Given the description of an element on the screen output the (x, y) to click on. 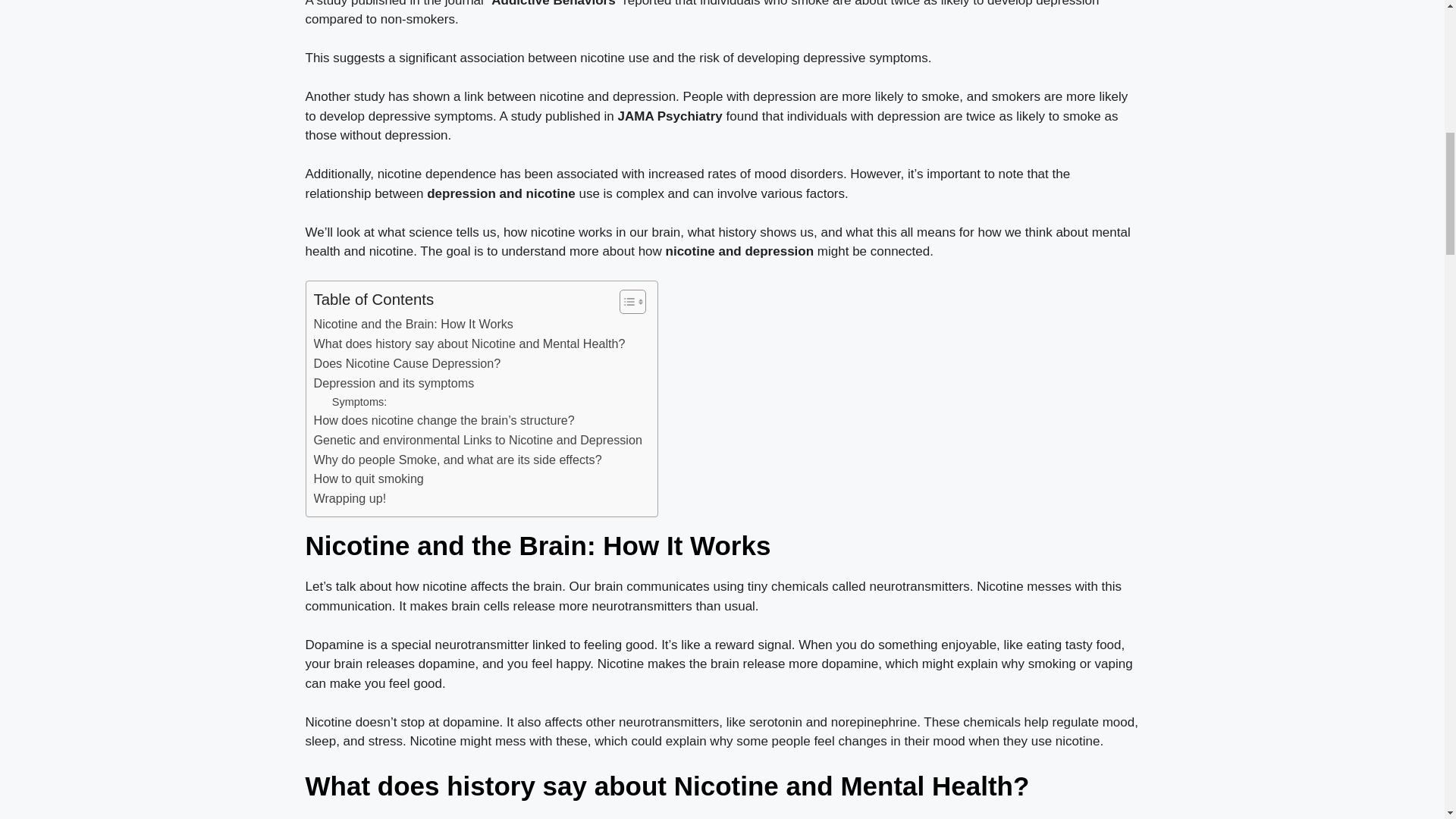
Symptoms: (359, 402)
How to quit smoking (368, 478)
Depression and its symptoms (394, 383)
Why do people Smoke, and what are its side effects? (458, 460)
Does Nicotine Cause Depression? (407, 363)
Why do people Smoke, and what are its side effects? (458, 460)
Wrapping up! (350, 498)
How to quit smoking (368, 478)
Genetic and environmental Links to Nicotine and Depression (478, 440)
Symptoms: (359, 402)
